Given the description of an element on the screen output the (x, y) to click on. 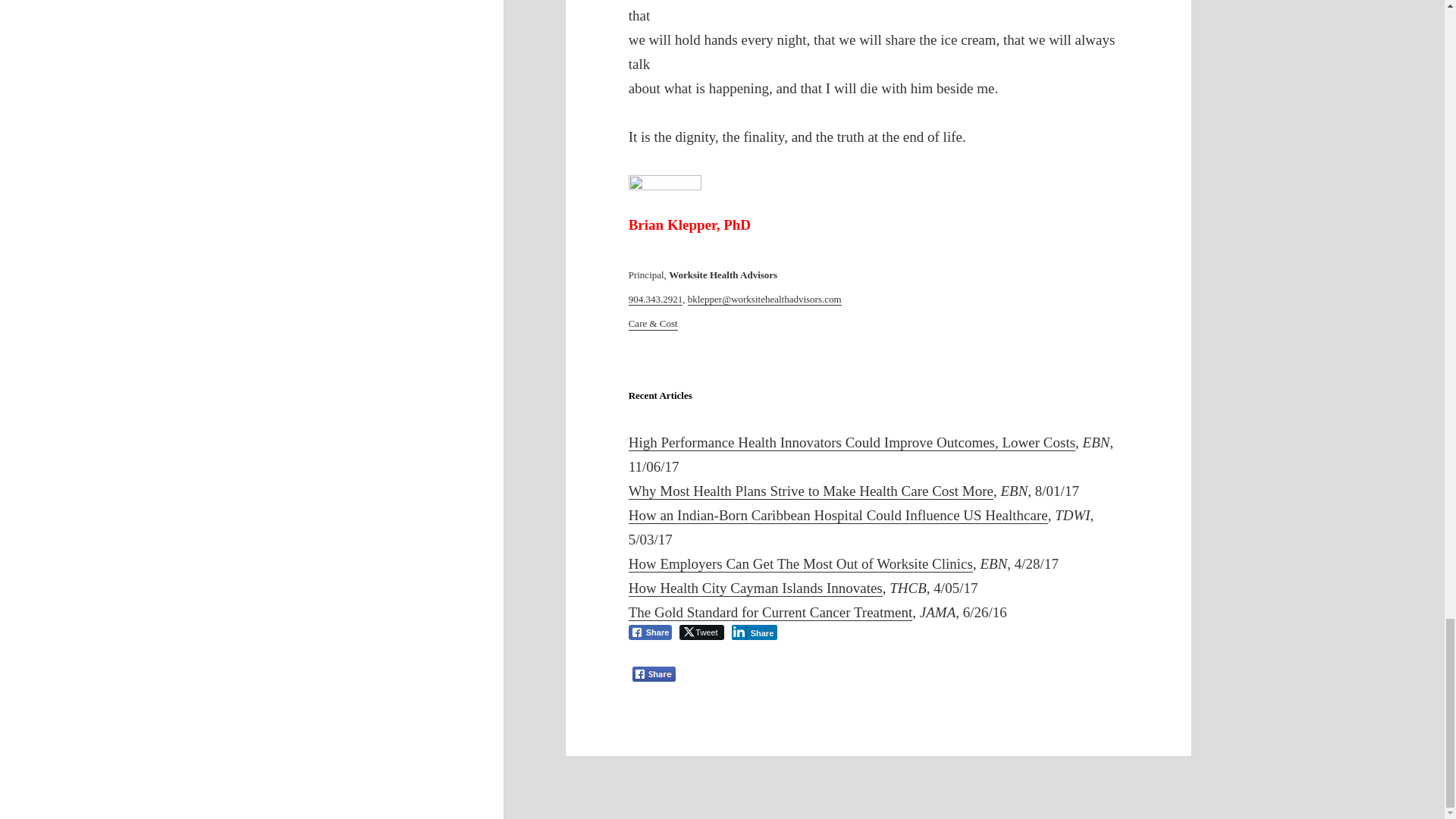
How Health City Cayman Islands Innovates (755, 588)
How Employers Can Get The Most Out of Worksite Clinics (800, 564)
Tweet (701, 631)
The Gold Standard for Current Cancer Treatment (770, 612)
904.343.2921 (655, 299)
Share (650, 631)
Why Most Health Plans Strive to Make Health Care Cost More (810, 491)
Share (754, 631)
